Given the description of an element on the screen output the (x, y) to click on. 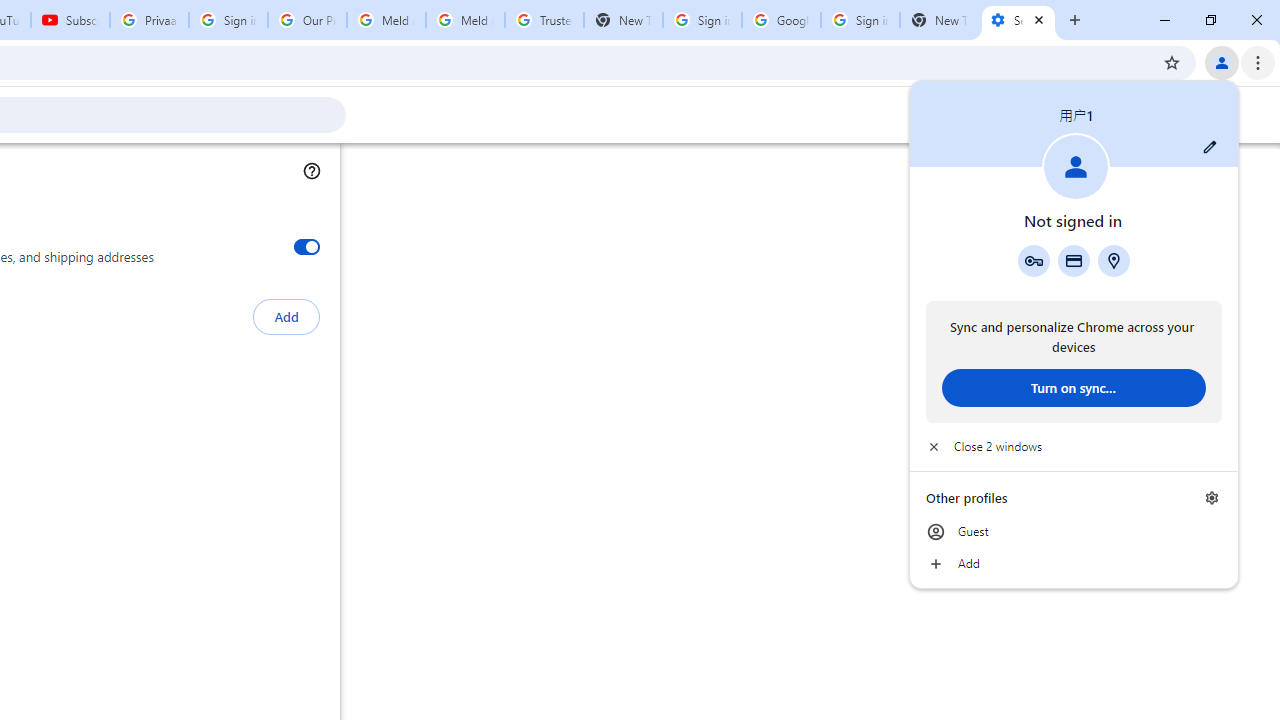
Google Password Manager (1033, 260)
New Tab (939, 20)
Payment methods (1074, 260)
Trusted Information and Content - Google Safety Center (544, 20)
Manage profiles (1211, 498)
Close 2 windows (1073, 446)
Sign in - Google Accounts (228, 20)
Sign in - Google Accounts (702, 20)
Google Cybersecurity Innovations - Google Safety Center (781, 20)
